Given the description of an element on the screen output the (x, y) to click on. 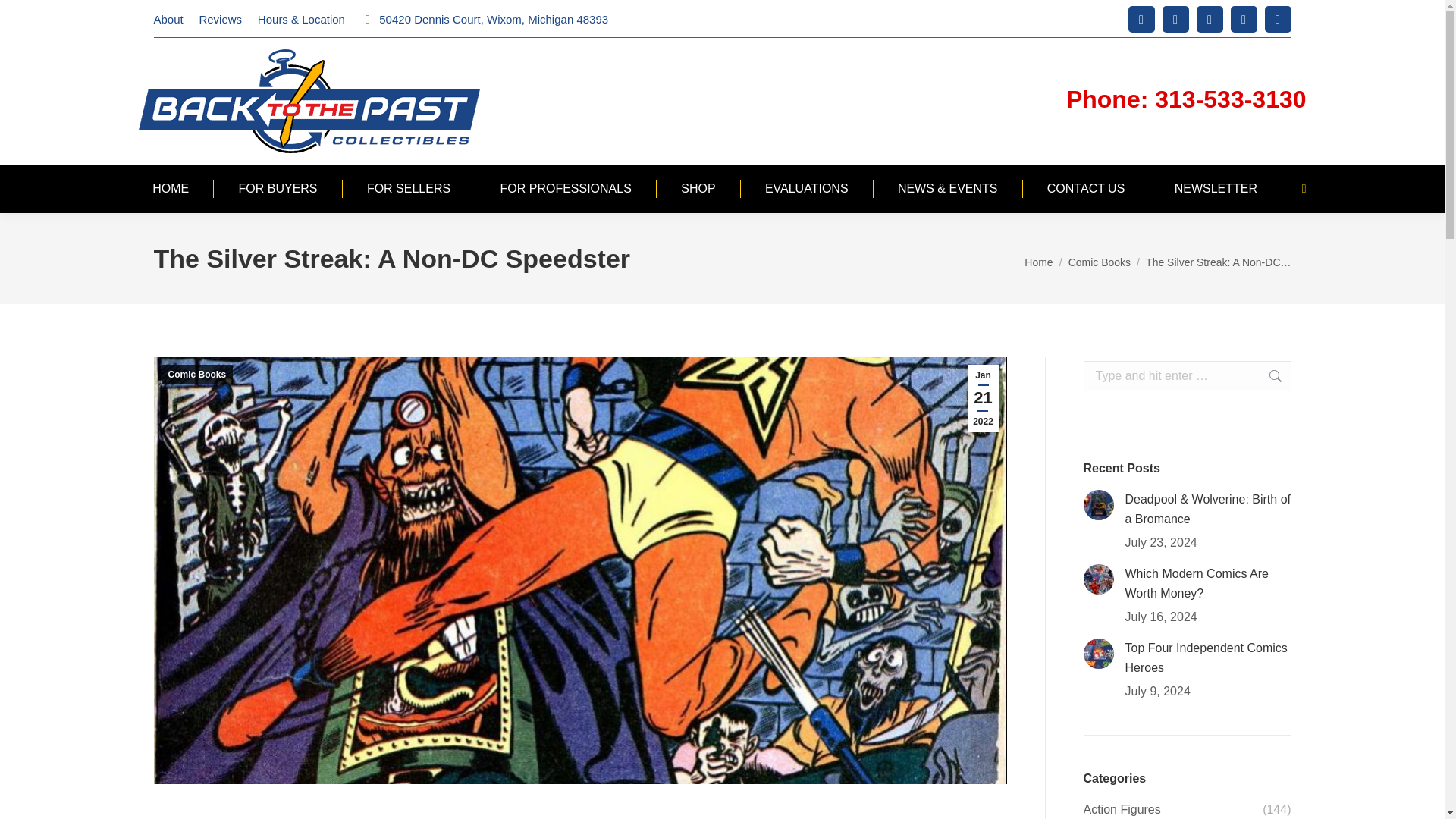
Rss page opens in new window (1243, 18)
Mail page opens in new window (1141, 18)
Rss page opens in new window (1243, 18)
Instagram page opens in new window (1175, 18)
TikTok page opens in new window (1278, 18)
Facebook page opens in new window (1209, 18)
TikTok page opens in new window (1278, 18)
50420 Dennis Court, Wixom, Michigan 48393 (483, 18)
About (167, 18)
Reviews (219, 18)
Go! (1267, 376)
Facebook page opens in new window (1209, 18)
HOME (170, 188)
Instagram page opens in new window (1175, 18)
Mail page opens in new window (1141, 18)
